Given the description of an element on the screen output the (x, y) to click on. 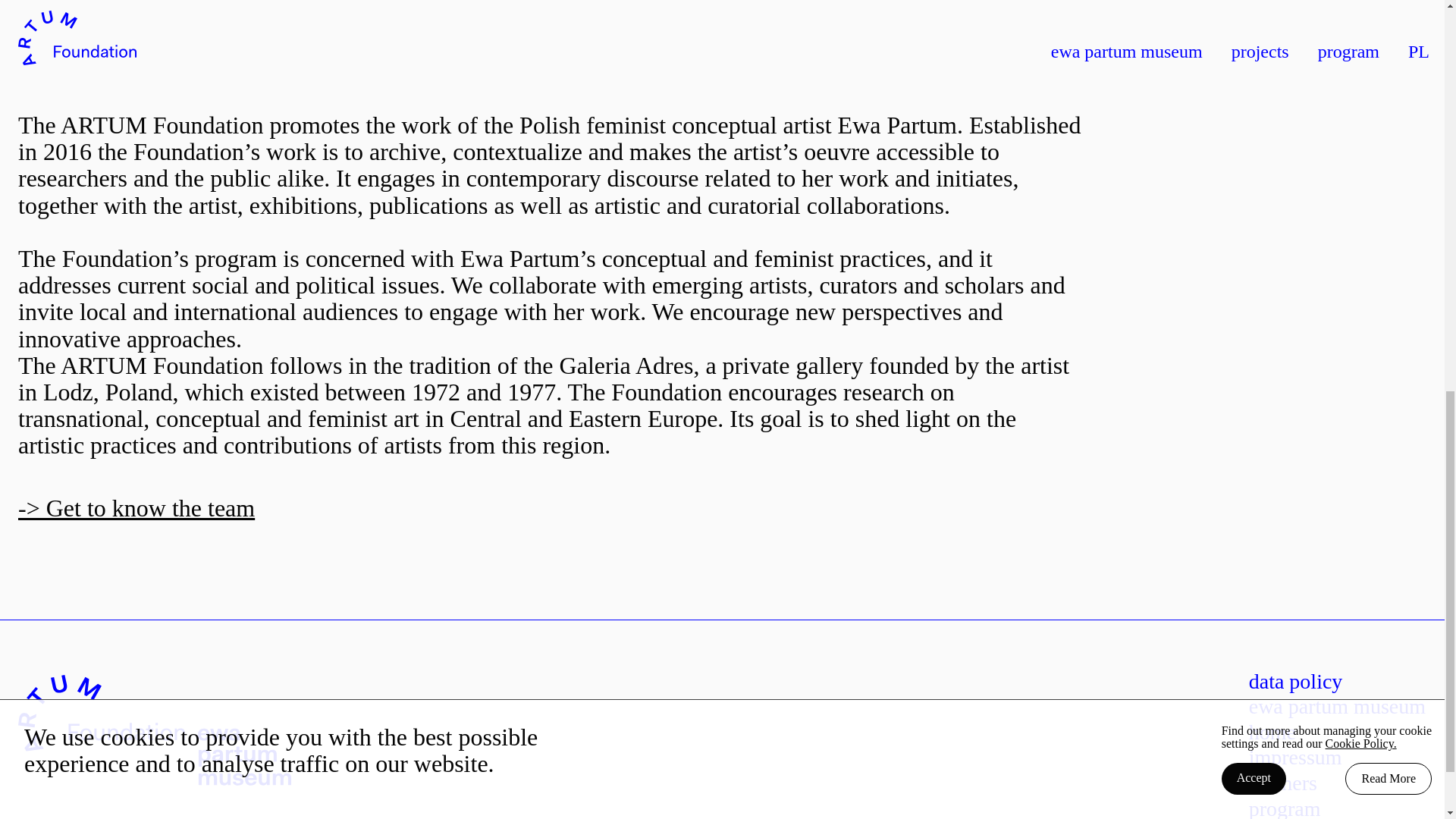
partners (1283, 782)
impressum (1295, 757)
home (1272, 731)
ewa partum museum (1337, 706)
program (1284, 807)
data policy (1295, 680)
